Given the description of an element on the screen output the (x, y) to click on. 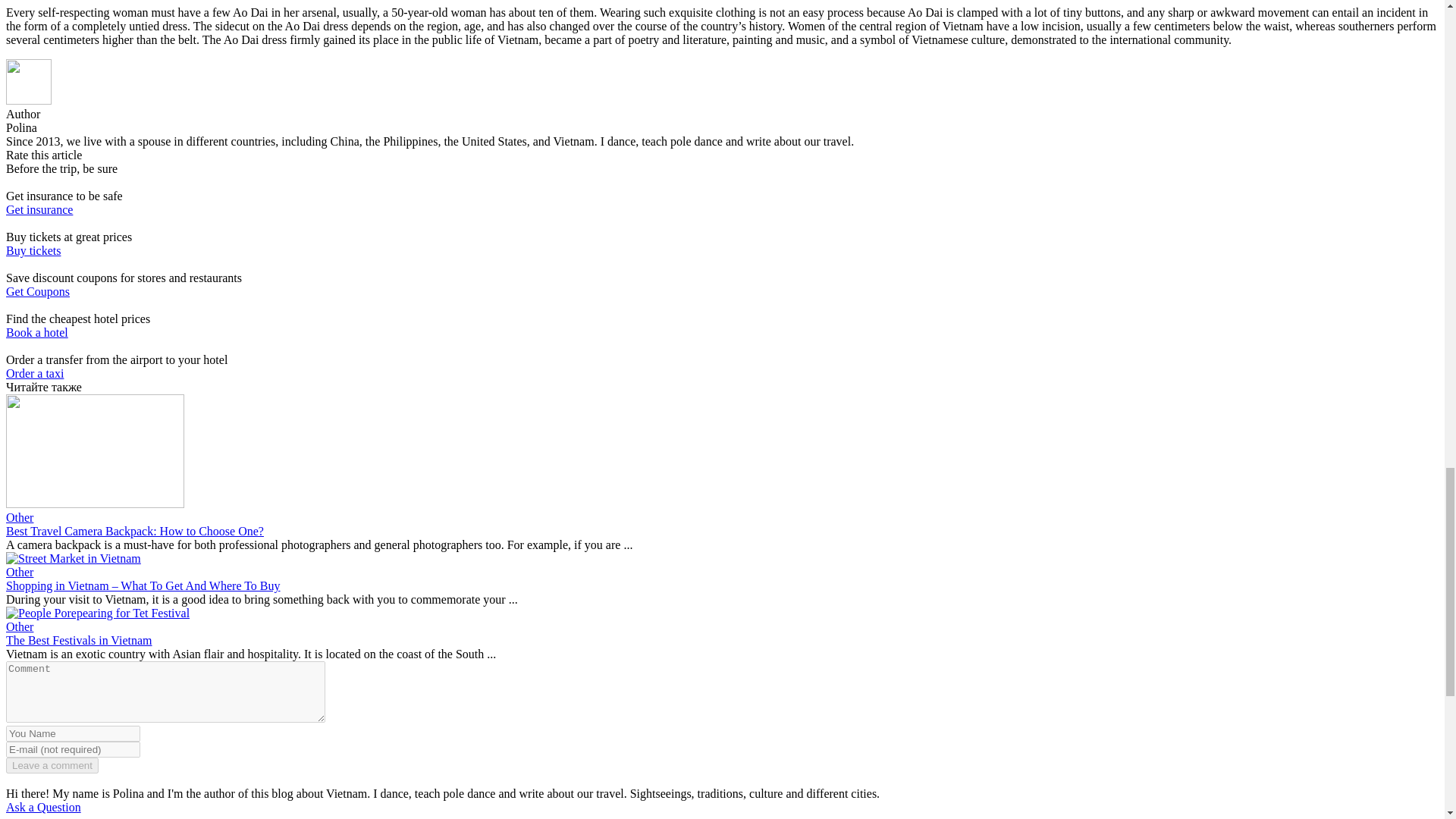
Other (19, 517)
Buy tickets (33, 250)
Other (19, 571)
Best Travel Camera Backpack: How to Choose One? (134, 530)
Ask a Question (43, 807)
Other (19, 626)
Order a taxi (34, 373)
Get Coupons (37, 291)
The Best Festivals in Vietnam (78, 640)
Leave a comment (52, 765)
Book a hotel (36, 332)
Get insurance (38, 209)
Leave a comment (52, 765)
